Given the description of an element on the screen output the (x, y) to click on. 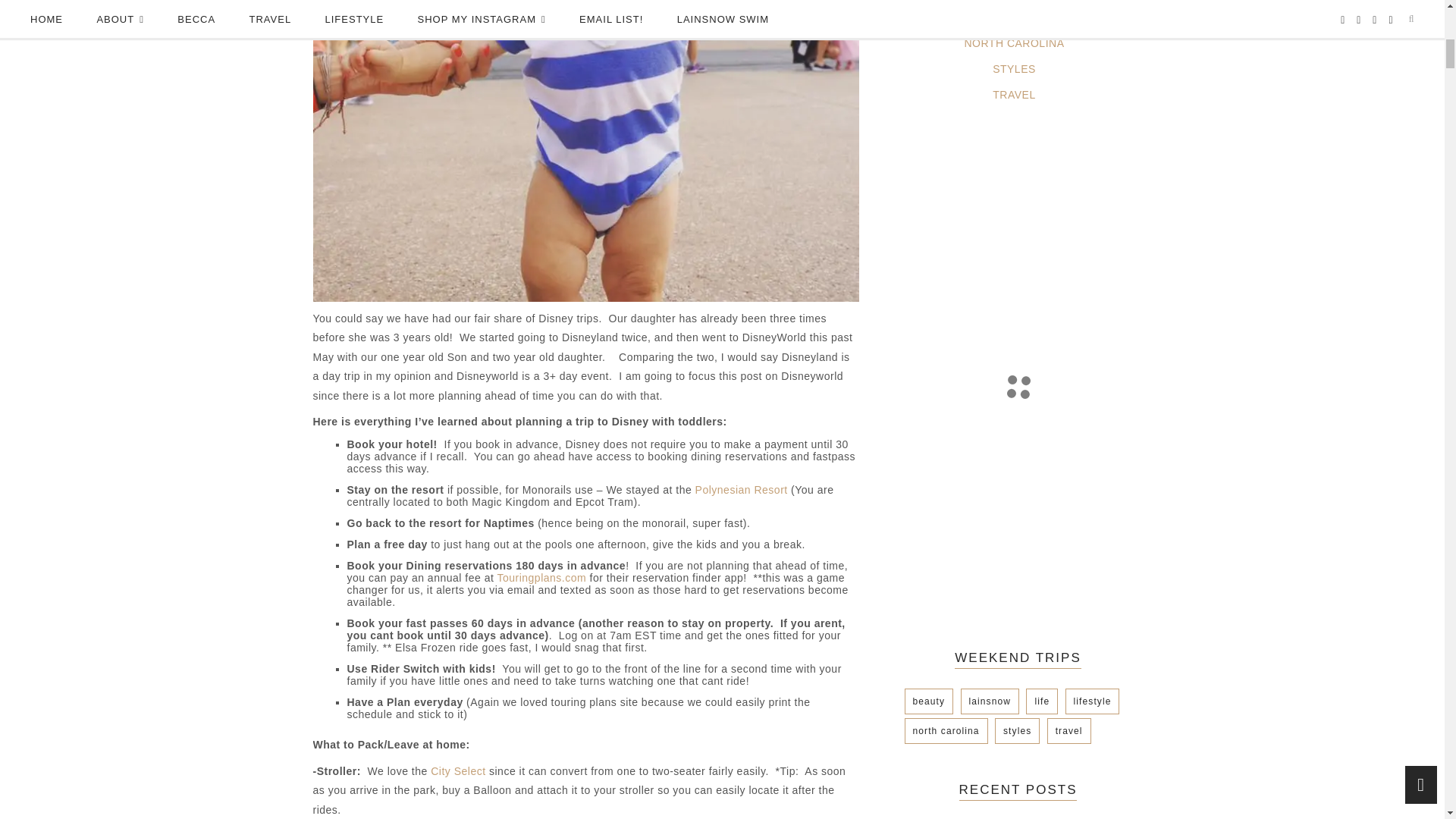
Touringplans.com (541, 577)
City Select (457, 770)
Polynesian Resort (741, 490)
